Given the description of an element on the screen output the (x, y) to click on. 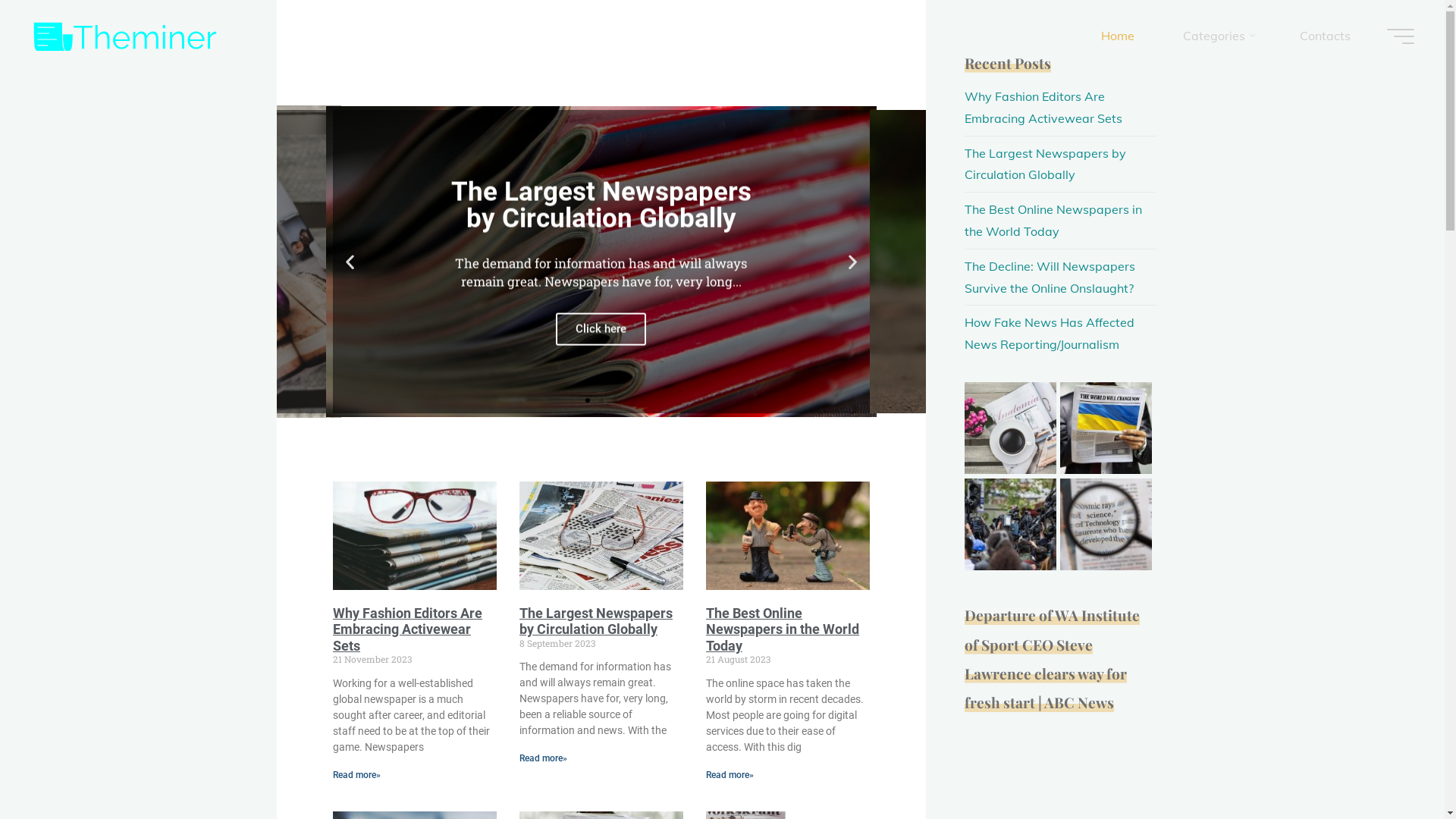
Categories Element type: text (1216, 35)
The Decline: Will Newspapers Survive the Online Onslaught? Element type: text (1049, 276)
How Fake News Has Affected News Reporting/Journalism Element type: text (1049, 332)
Home Element type: text (1117, 35)
The Best Online Newspapers in the World Today Element type: text (1053, 219)
The Best Online Newspapers in the World Today Element type: text (781, 629)
Why Fashion Editors Are Embracing Activewear Sets Element type: text (406, 629)
Why Fashion Editors Are Embracing Activewear Sets Element type: text (1043, 106)
The Largest Newspapers by Circulation Globally Element type: text (594, 621)
Contacts Element type: text (1324, 35)
Theminer.net.au Element type: hover (124, 35)
The Largest Newspapers by Circulation Globally Element type: text (1045, 163)
